Given the description of an element on the screen output the (x, y) to click on. 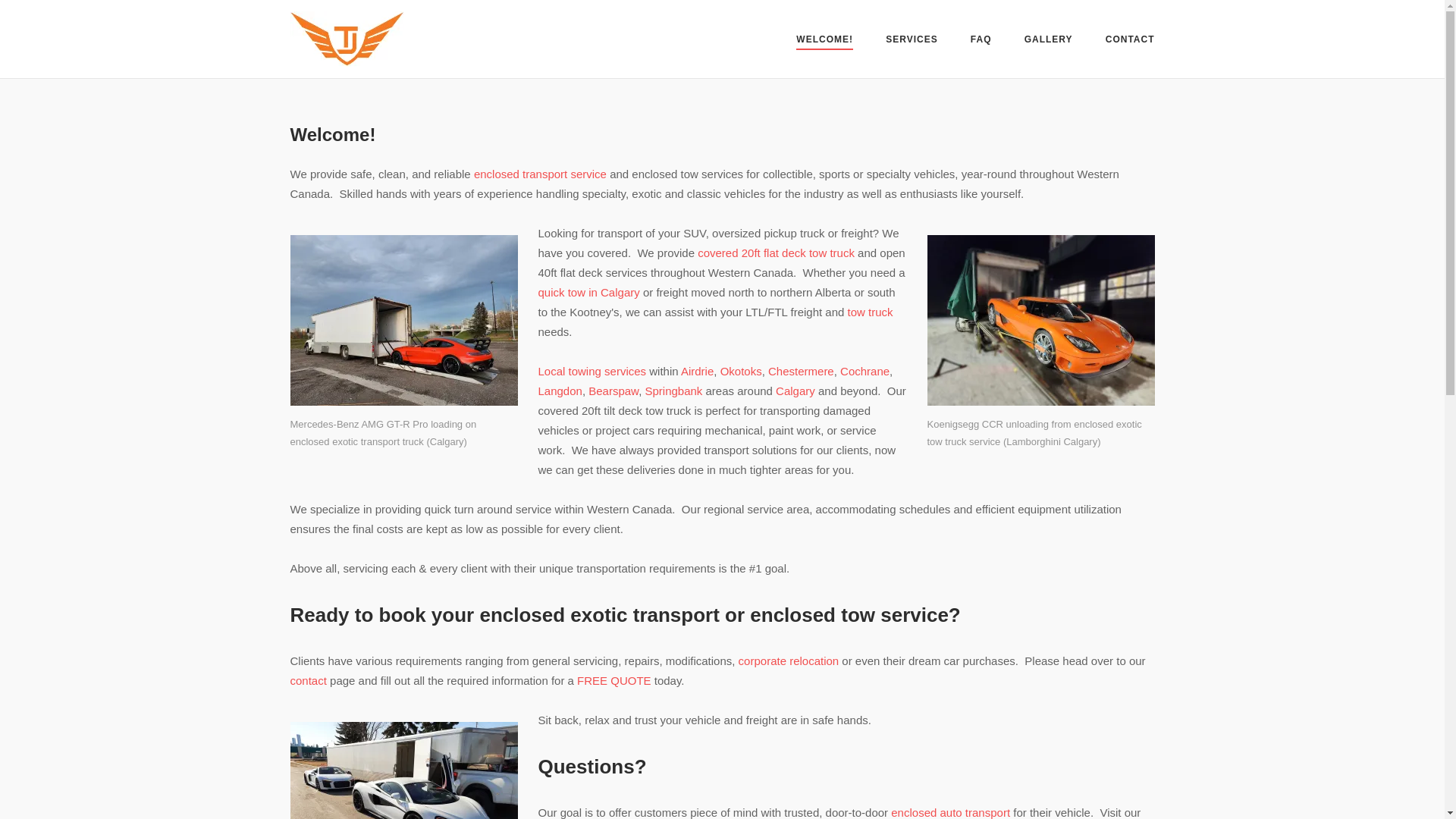
Springbank (673, 390)
Local towing services (592, 370)
Calgary (795, 390)
Bearspaw (613, 390)
Langdon (560, 390)
WELCOME! (824, 41)
enclosed auto transport (950, 812)
tow truck (870, 311)
quick tow in Calgary (589, 291)
corporate relocation (789, 660)
Okotoks (740, 370)
enclosed transport service (540, 173)
SERVICES (911, 41)
CONTACT (1129, 41)
Airdrie (697, 370)
